Given the description of an element on the screen output the (x, y) to click on. 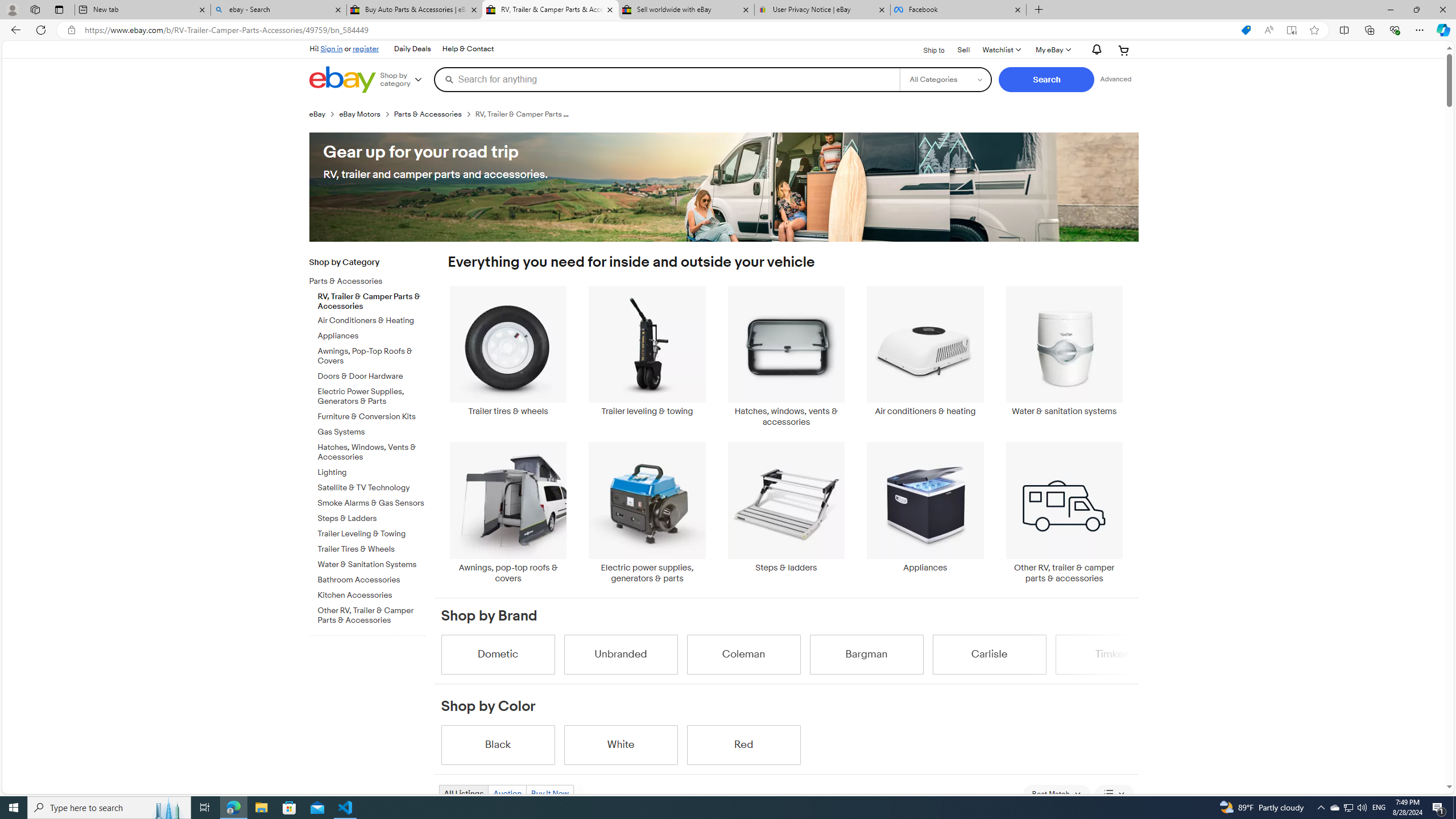
Awnings, Pop-Top Roofs & Covers (371, 353)
Your shopping cart (1123, 49)
Enter Immersive Reader (F9) (1291, 29)
Hatches, Windows, Vents & Accessories (371, 452)
Other RV, Trailer & Camper Parts & Accessories (371, 616)
Go to previous slide (439, 654)
Appliances (925, 512)
Bathroom Accessories (371, 579)
Copilot (Ctrl+Shift+.) (1442, 29)
New Tab (1038, 9)
Doors & Door Hardware (371, 376)
Settings and more (Alt+F) (1419, 29)
Shop by category (405, 79)
Trailer Leveling & Towing (371, 531)
Split screen (1344, 29)
